Given the description of an element on the screen output the (x, y) to click on. 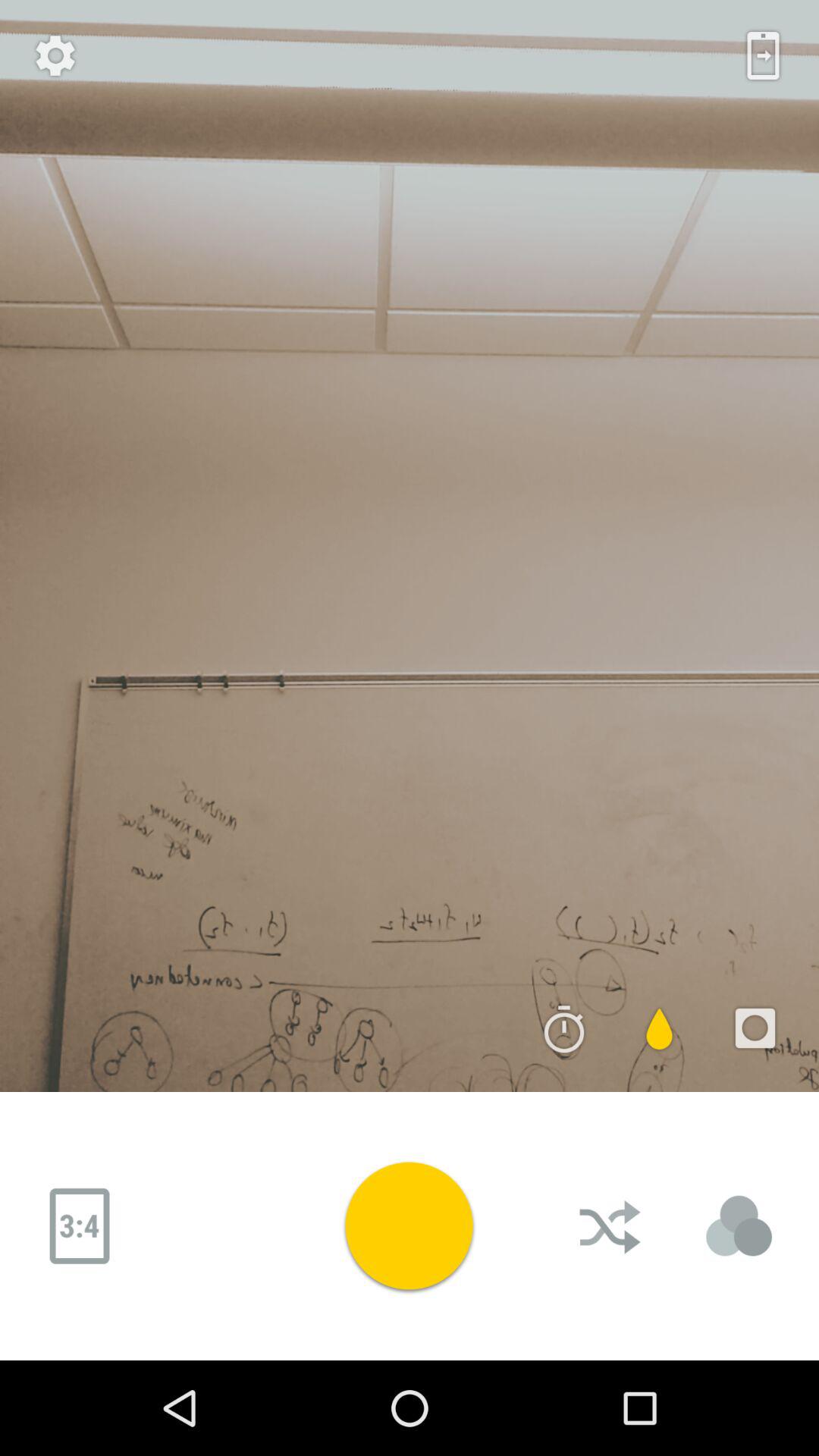
select the play butten (408, 1225)
